Given the description of an element on the screen output the (x, y) to click on. 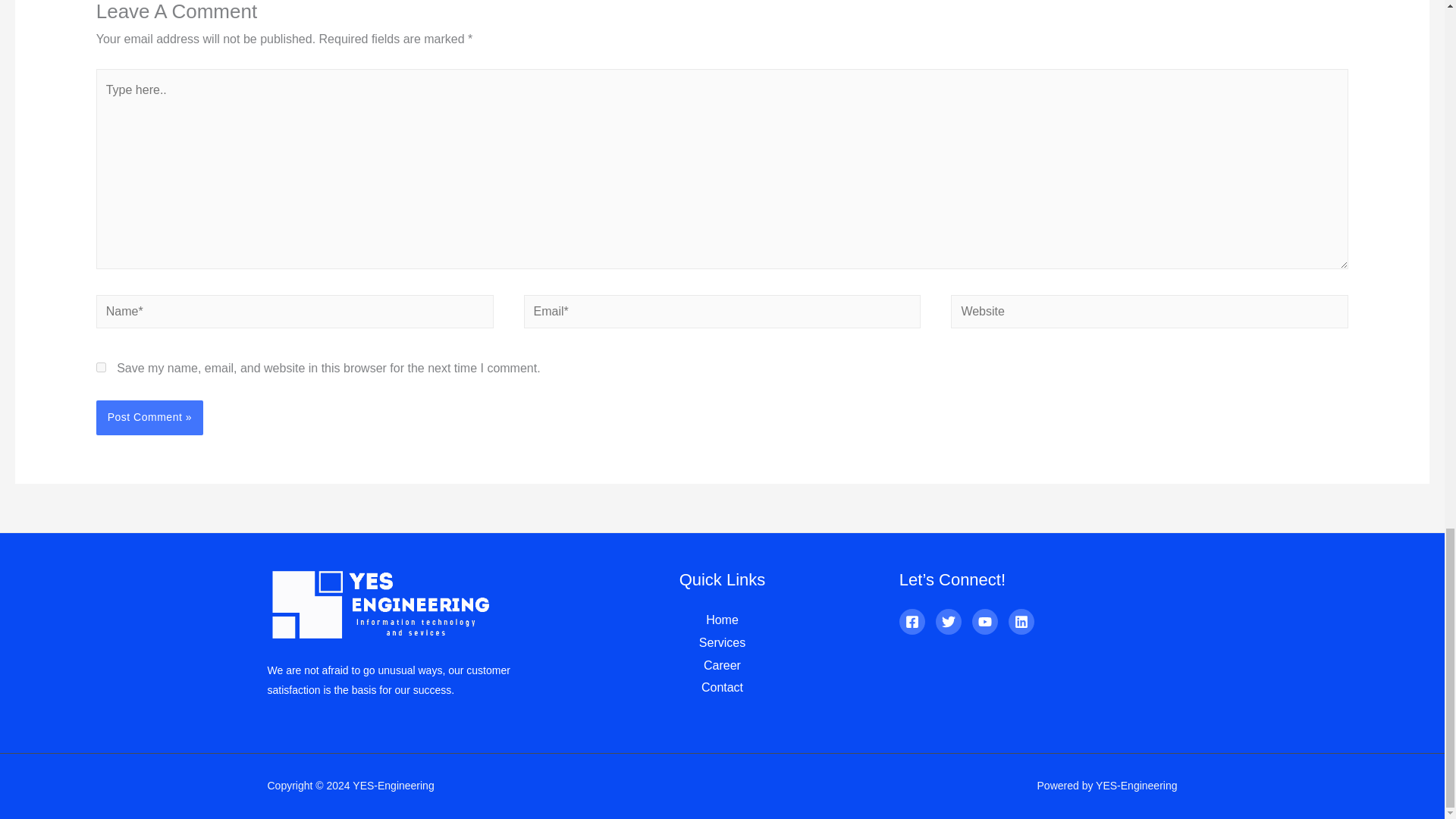
yes (101, 367)
Career (722, 665)
Home (722, 619)
Services (721, 642)
Contact (721, 686)
